Given the description of an element on the screen output the (x, y) to click on. 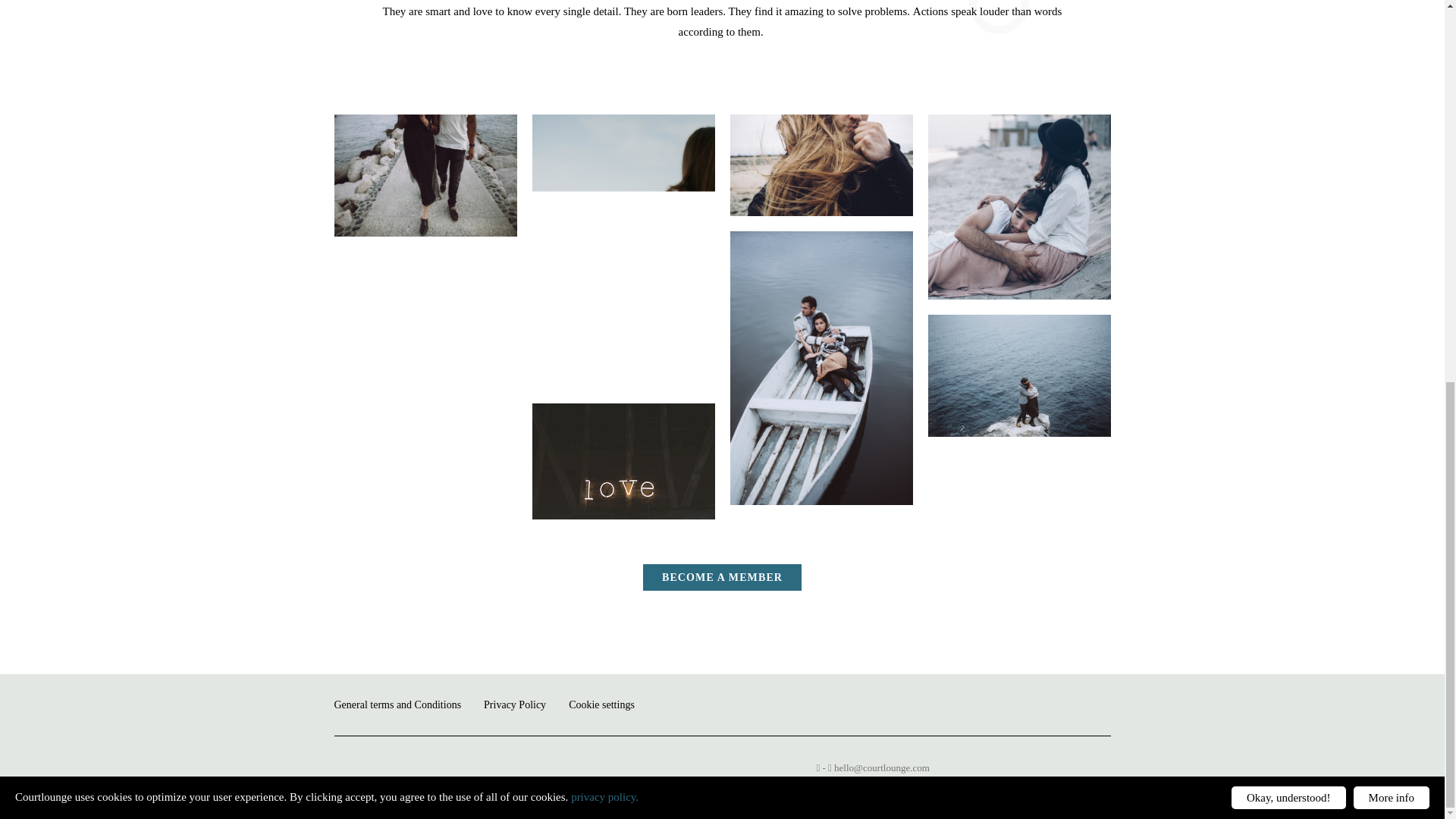
General terms and Conditions (397, 704)
More info (1391, 84)
BECOME A MEMBER (722, 577)
Privacy Policy (514, 704)
privacy policy. (604, 83)
Okay, understood! (1288, 84)
Cookie settings (601, 704)
